Given the description of an element on the screen output the (x, y) to click on. 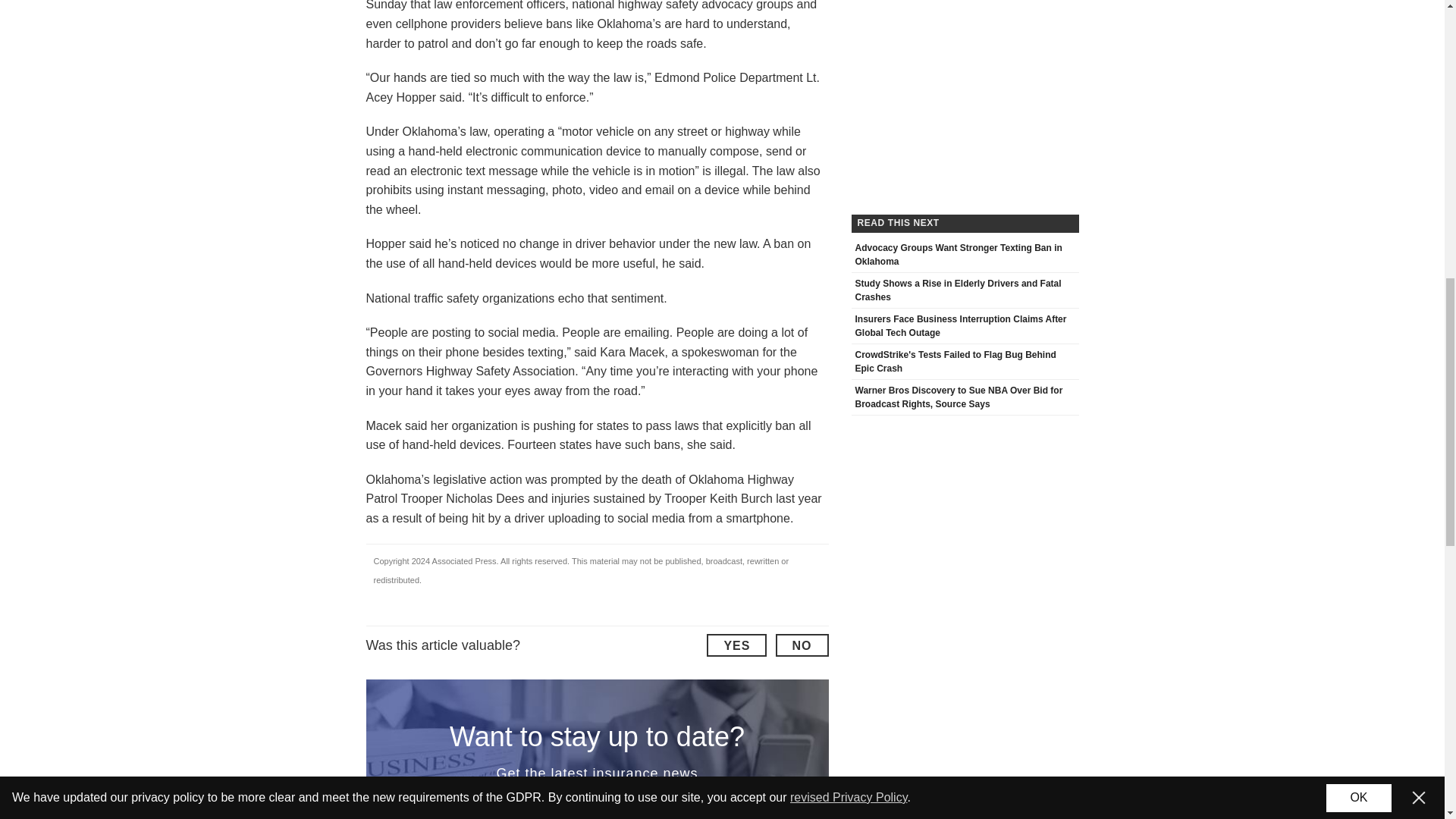
YES (736, 644)
NO (801, 644)
Submit (730, 816)
